Given the description of an element on the screen output the (x, y) to click on. 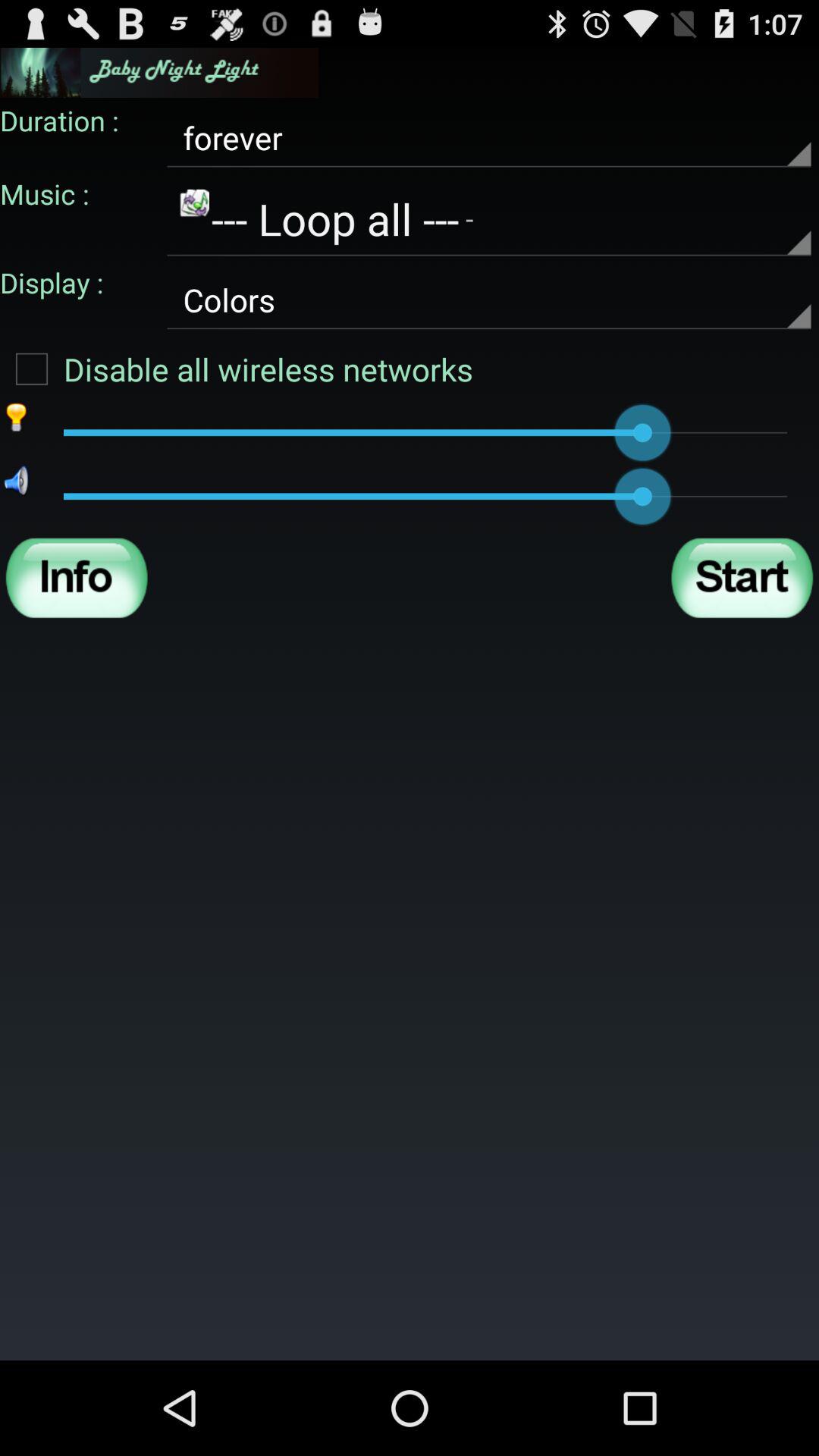
start button (742, 577)
